Given the description of an element on the screen output the (x, y) to click on. 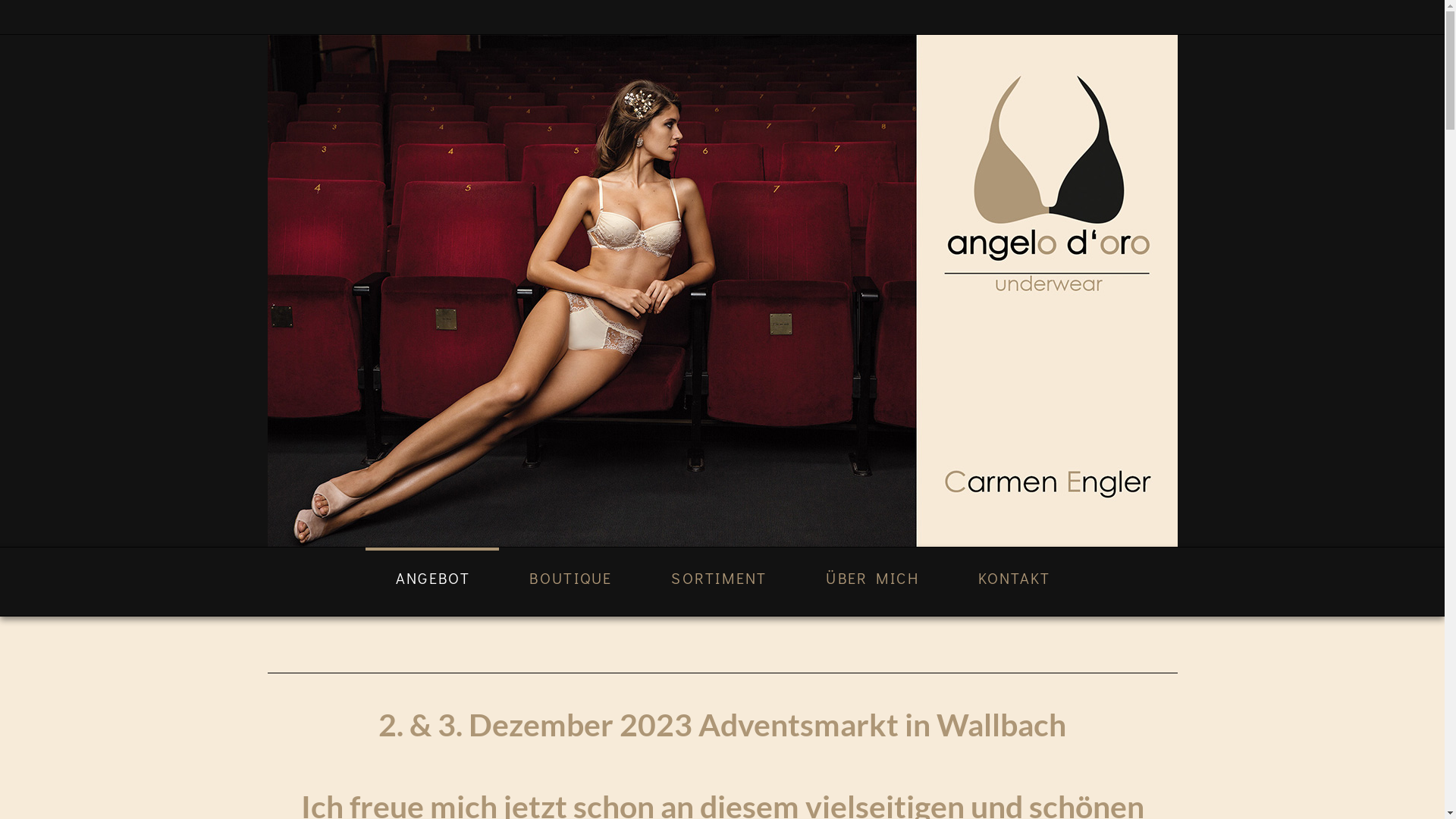
KONTAKT Element type: text (1013, 581)
SORTIMENT Element type: text (717, 581)
ANGEBOT Element type: text (432, 581)
BOUTIQUE Element type: text (569, 581)
